Given the description of an element on the screen output the (x, y) to click on. 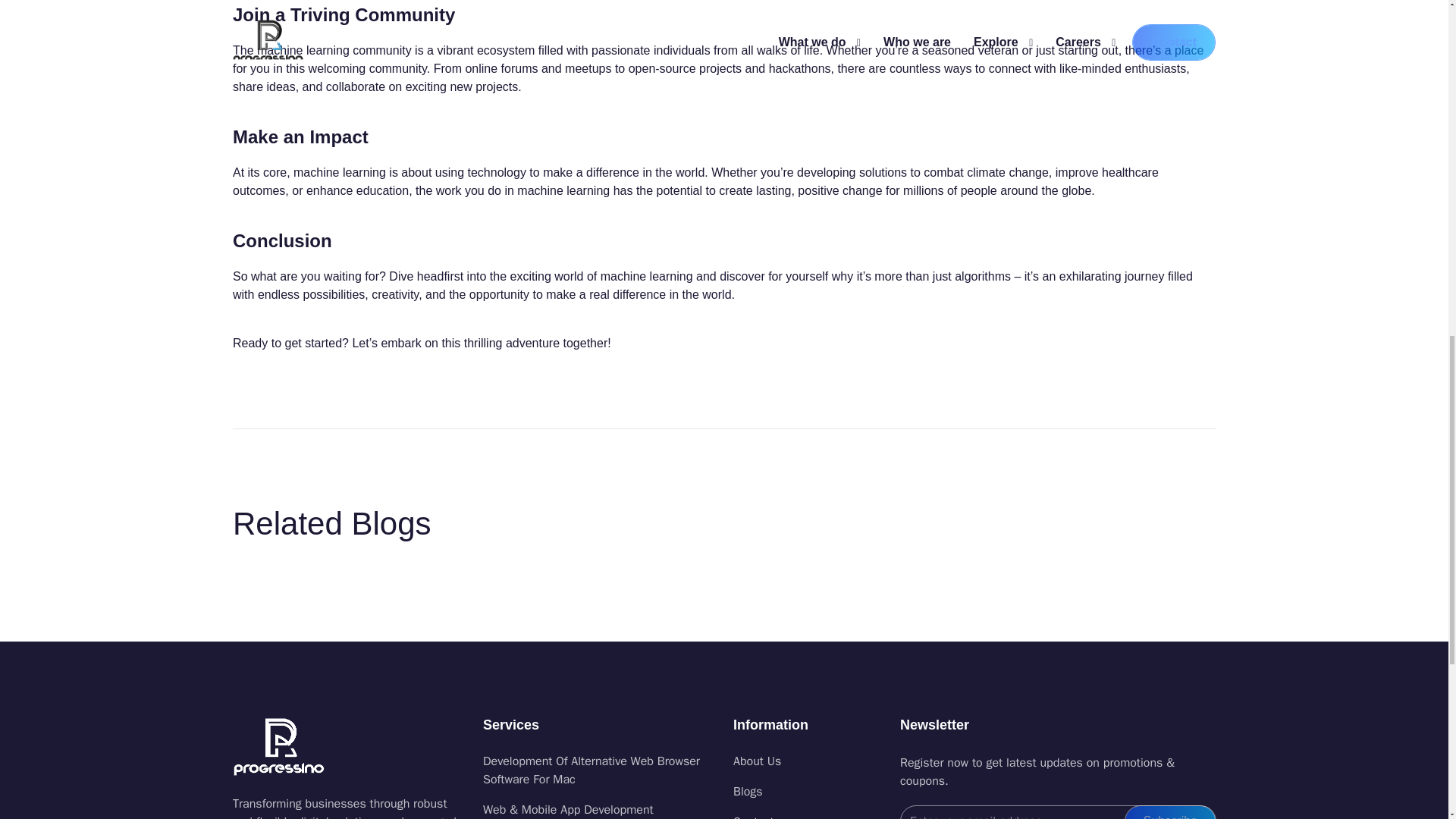
Subscribe (1169, 812)
Contact us (807, 816)
Blogs (807, 791)
About Us (807, 761)
Development Of Alternative Web Browser Software For Mac (598, 770)
